Given the description of an element on the screen output the (x, y) to click on. 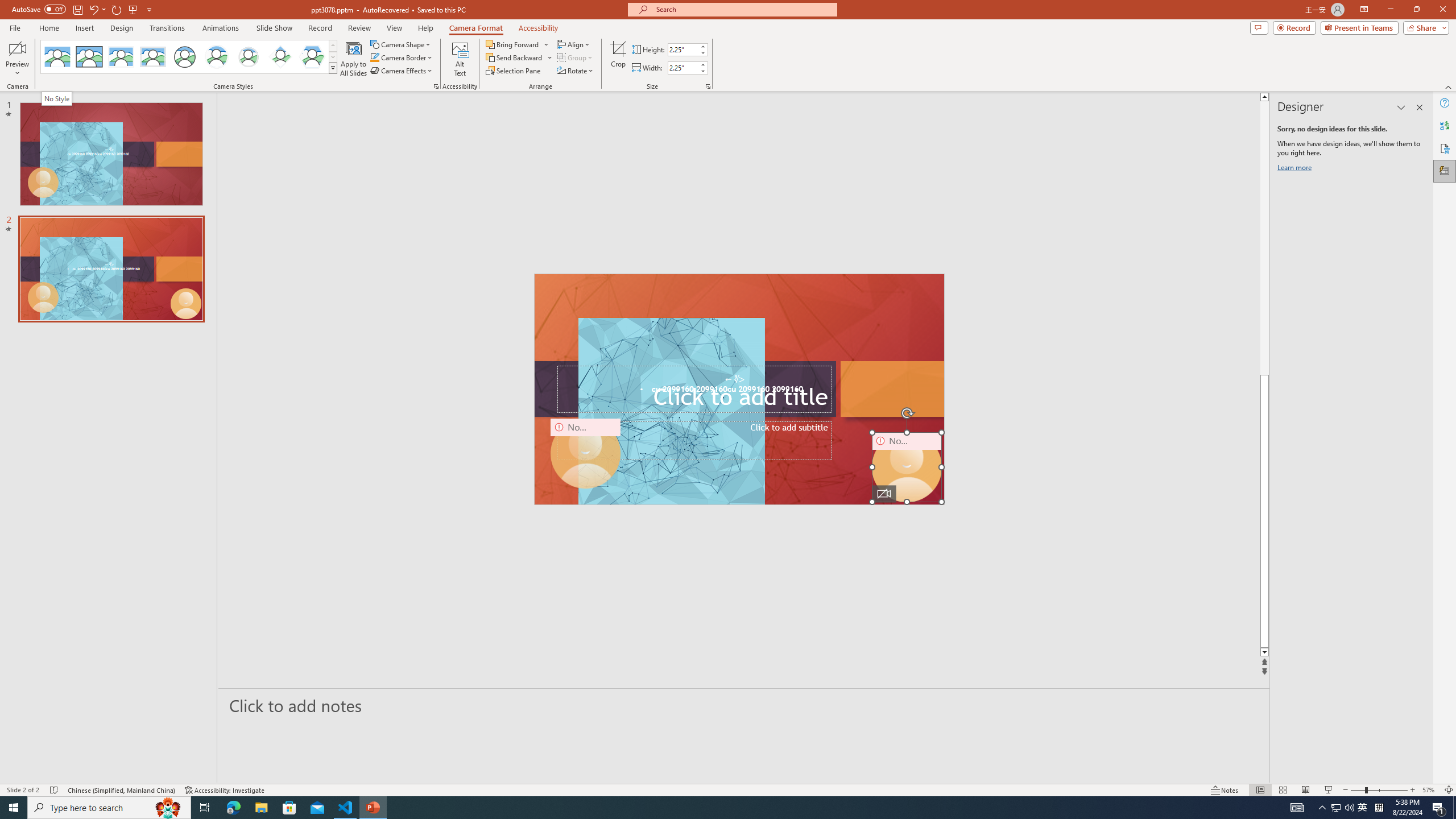
Simple Frame Circle (184, 56)
Cameo Height (682, 49)
Ribbon Display Options (1364, 9)
Camera Shape (400, 44)
Camera Border (401, 56)
Format Object... (435, 85)
Slide Show (1328, 790)
Slide (111, 268)
Bring Forward (517, 44)
AutoSave (38, 9)
Send Backward (518, 56)
Slide Sorter (1282, 790)
No Style (57, 56)
Designer (1444, 170)
Zoom 57% (1430, 790)
